Given the description of an element on the screen output the (x, y) to click on. 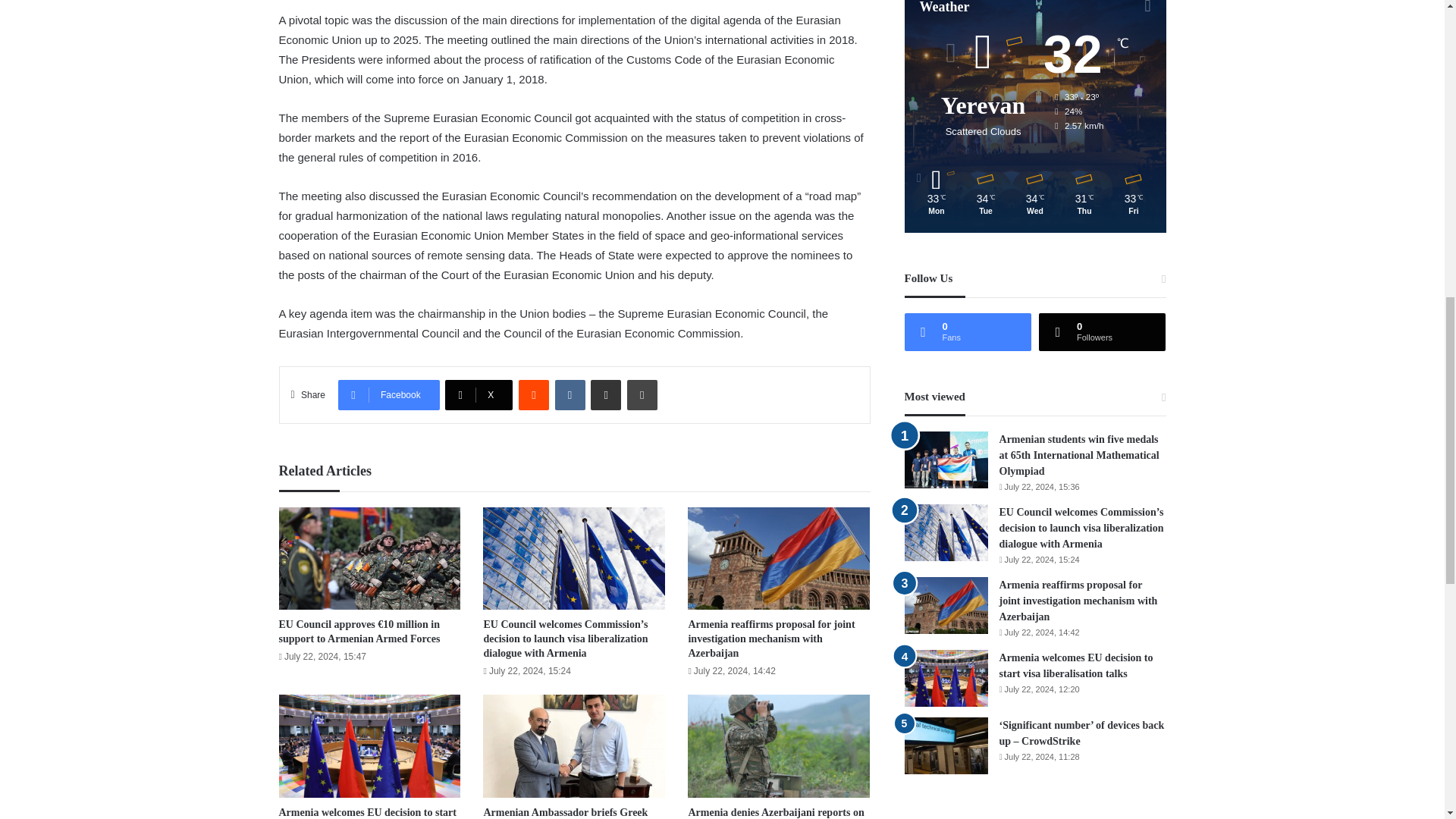
Reddit (533, 395)
Print (642, 395)
Facebook (388, 395)
Facebook (388, 395)
X (478, 395)
VKontakte (569, 395)
Share via Email (606, 395)
X (478, 395)
